Given the description of an element on the screen output the (x, y) to click on. 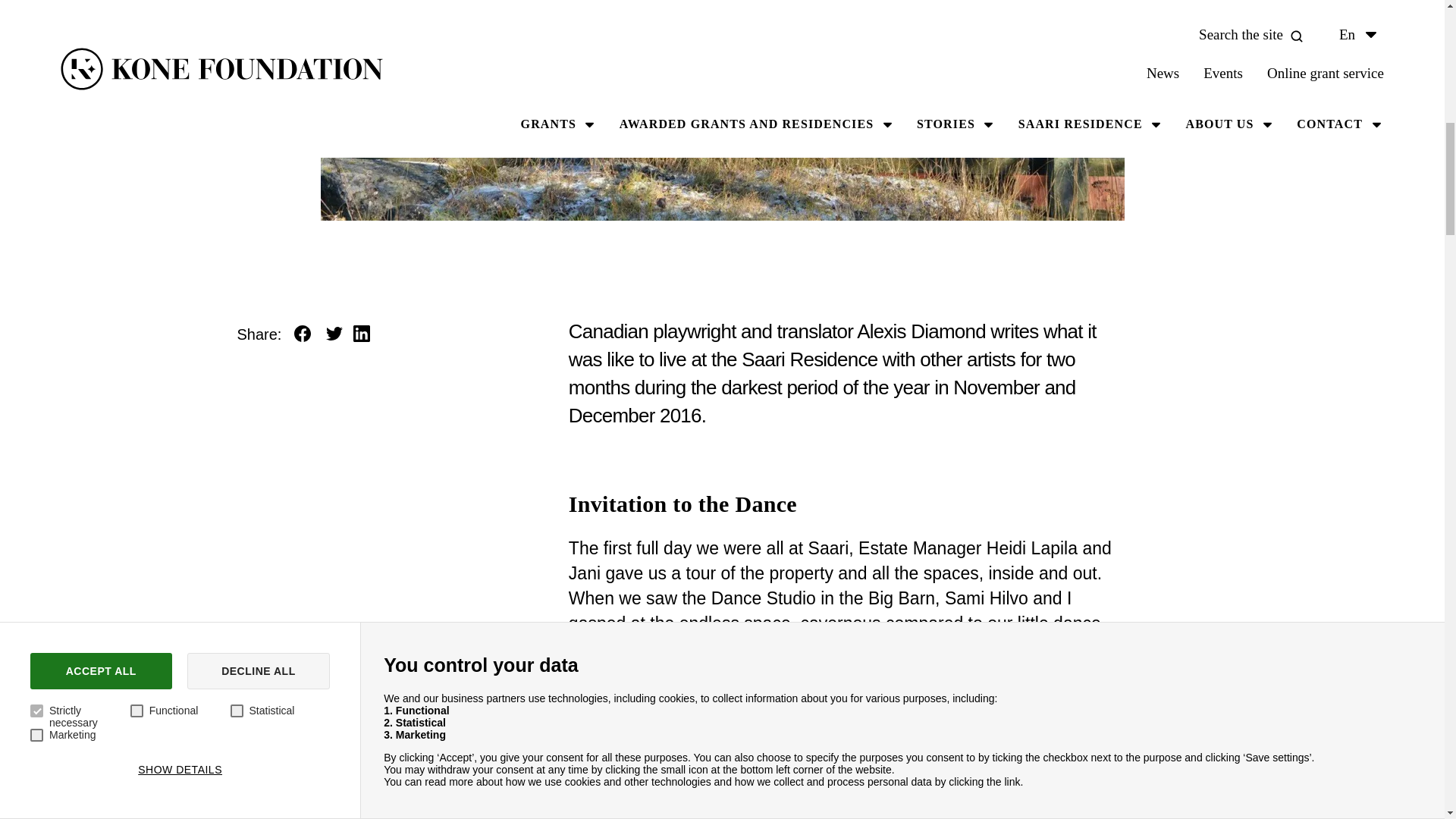
Session (983, 184)
Required for the website to perform properly. (636, 141)
Pending (636, 91)
Required for the website to perform properly. (636, 184)
PHPSESSID (1157, 184)
READ MORE ABOUT COOKIES (270, 27)
koneensaatio.fi.seravo.com (1331, 184)
PHP (462, 184)
.vimeo.com (1331, 91)
.c.clarity.ms (1331, 141)
Session (983, 91)
Session (983, 141)
SM (1157, 141)
Cloudflare (462, 91)
COOKIE POLICY (90, 27)
